Given the description of an element on the screen output the (x, y) to click on. 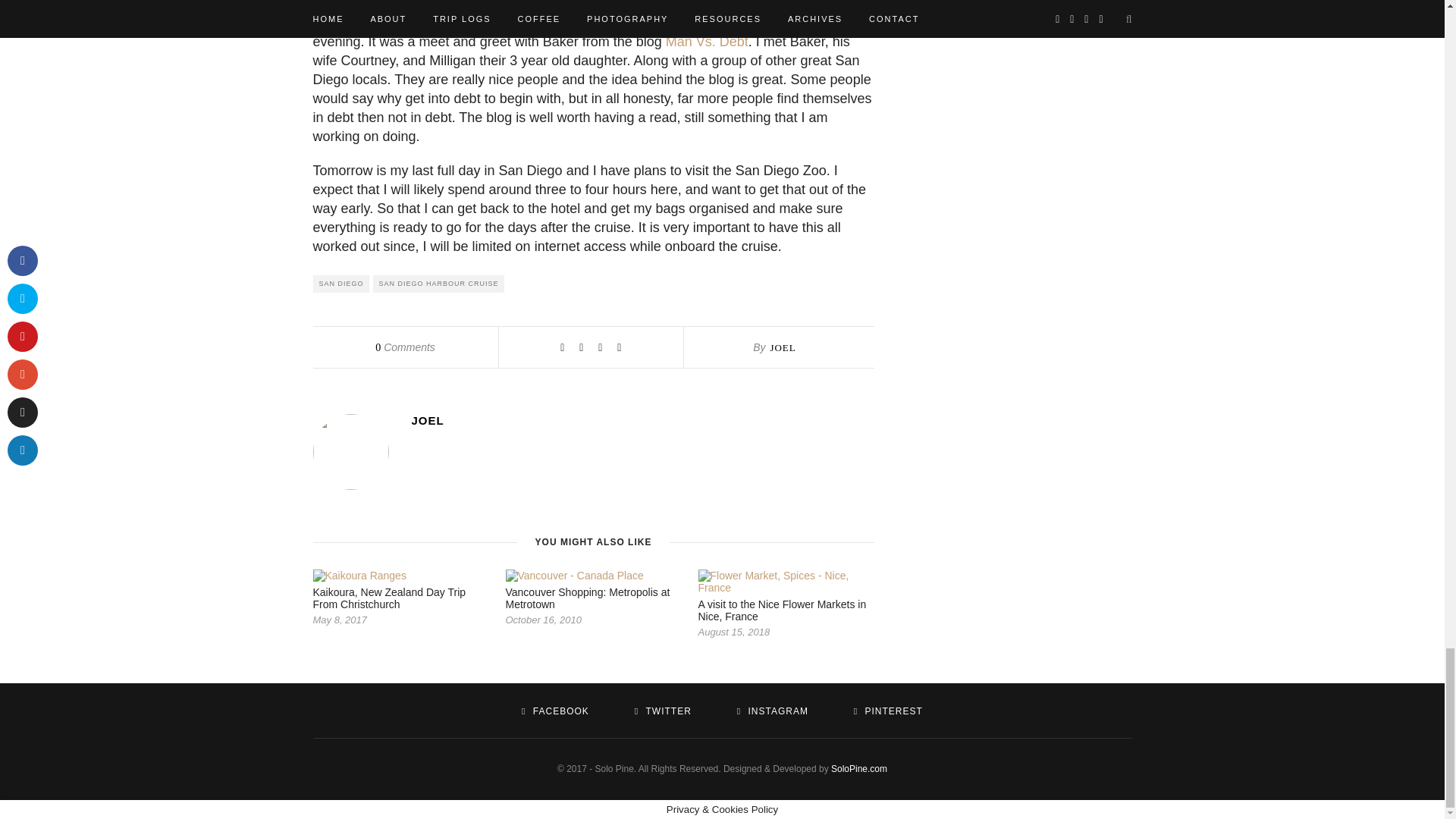
SAN DIEGO (340, 283)
Vancouver Shopping: Metropolis at Metrotown (587, 598)
SAN DIEGO HARBOUR CRUISE (437, 283)
A visit to the Nice Flower Markets in Nice, France (781, 610)
Man Vs. Debt (706, 41)
Kaikoura, New Zealand Day Trip From Christchurch (389, 598)
JOEL (782, 347)
Posts by Joel (782, 347)
JOEL (641, 420)
0 Comments (405, 346)
